Given the description of an element on the screen output the (x, y) to click on. 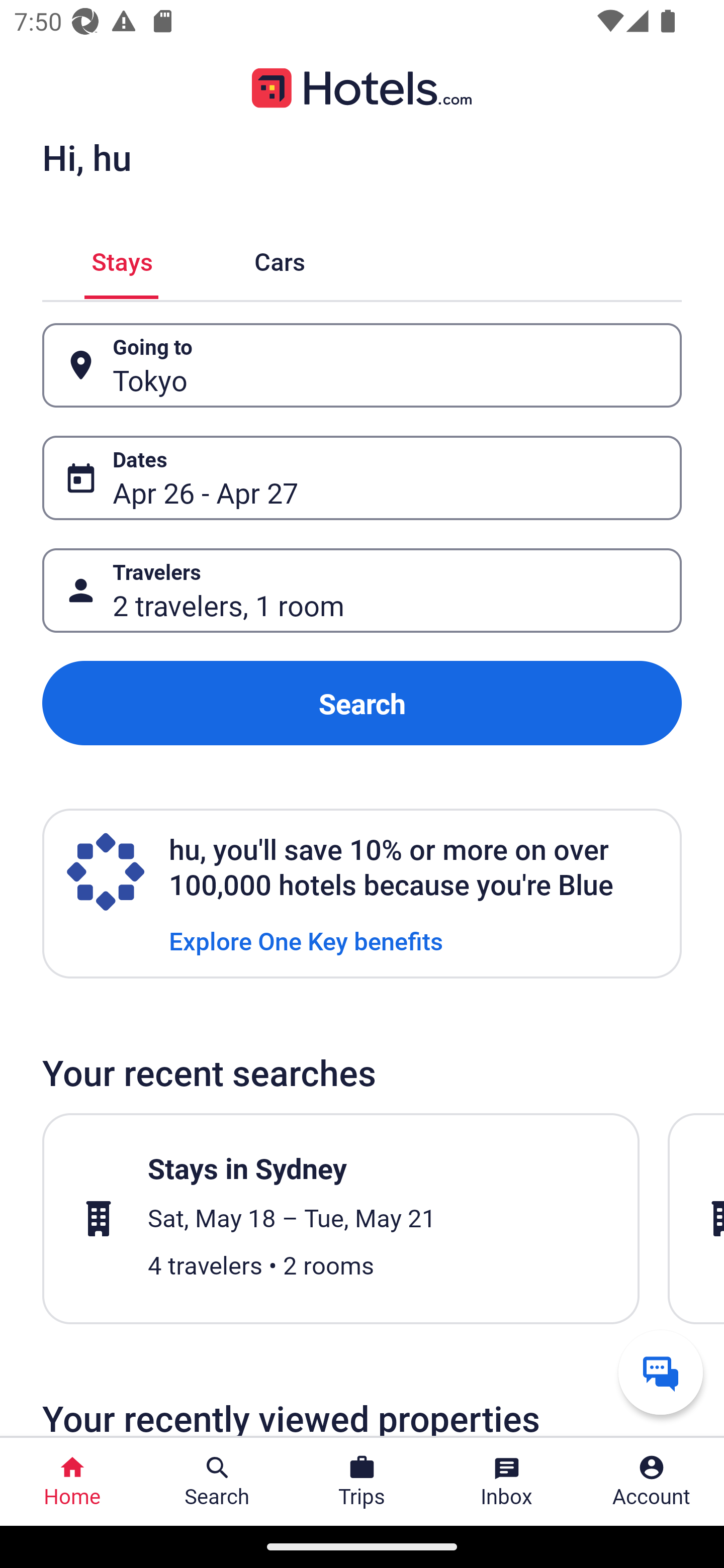
Hi, hu (86, 156)
Cars (279, 259)
Going to Button Tokyo (361, 365)
Dates Button Apr 26 - Apr 27 (361, 477)
Travelers Button 2 travelers, 1 room (361, 590)
Search (361, 702)
Get help from a virtual agent (660, 1371)
Search Search Button (216, 1481)
Trips Trips Button (361, 1481)
Inbox Inbox Button (506, 1481)
Account Profile. Button (651, 1481)
